Given the description of an element on the screen output the (x, y) to click on. 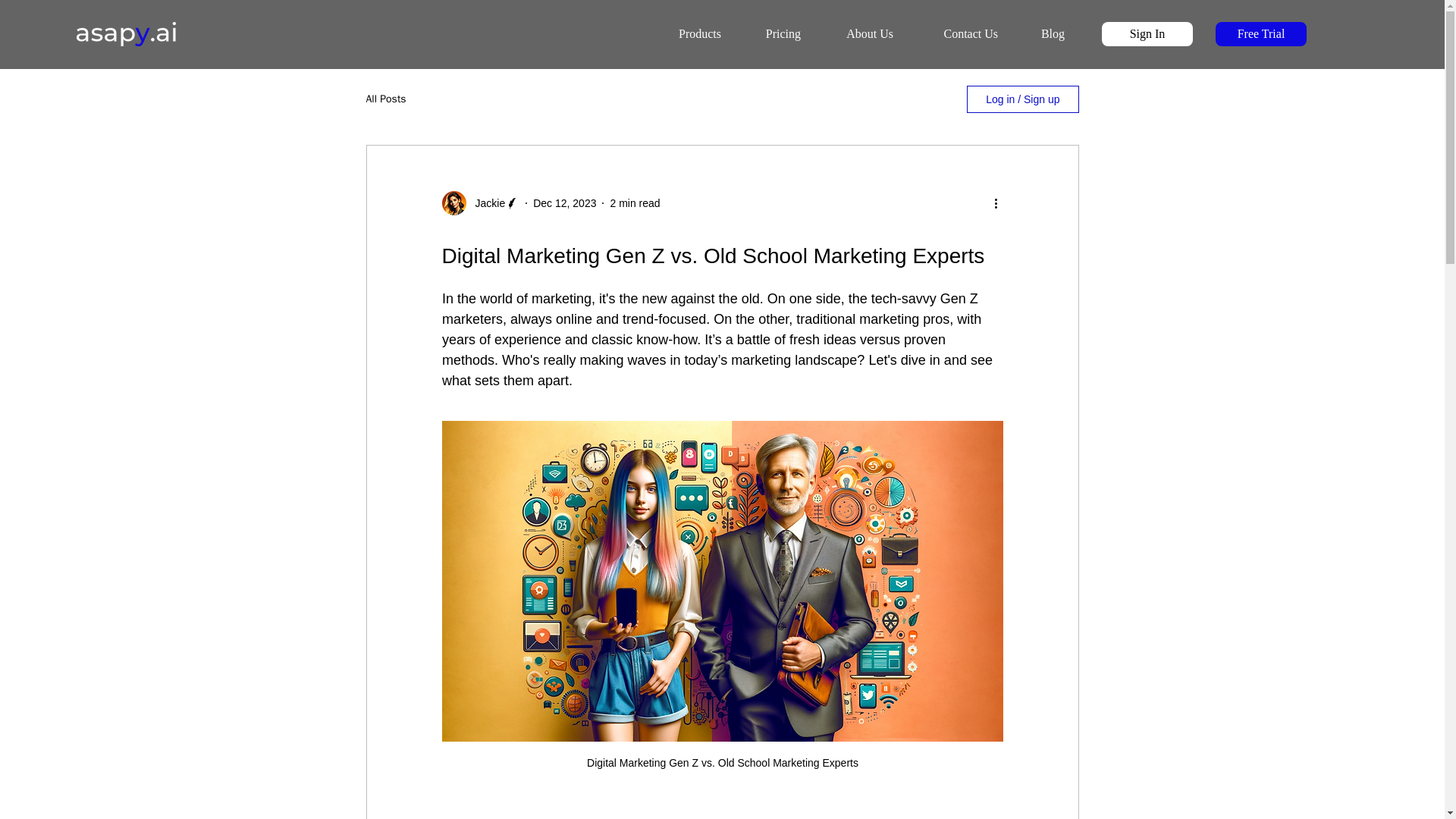
Pricing (772, 34)
Blog (1042, 34)
Sign In (1147, 33)
Dec 12, 2023 (563, 203)
2 min read (634, 203)
Contact Us (956, 34)
Jackie (485, 203)
All Posts (385, 99)
About Us (858, 34)
Free Trial (1260, 33)
